Given the description of an element on the screen output the (x, y) to click on. 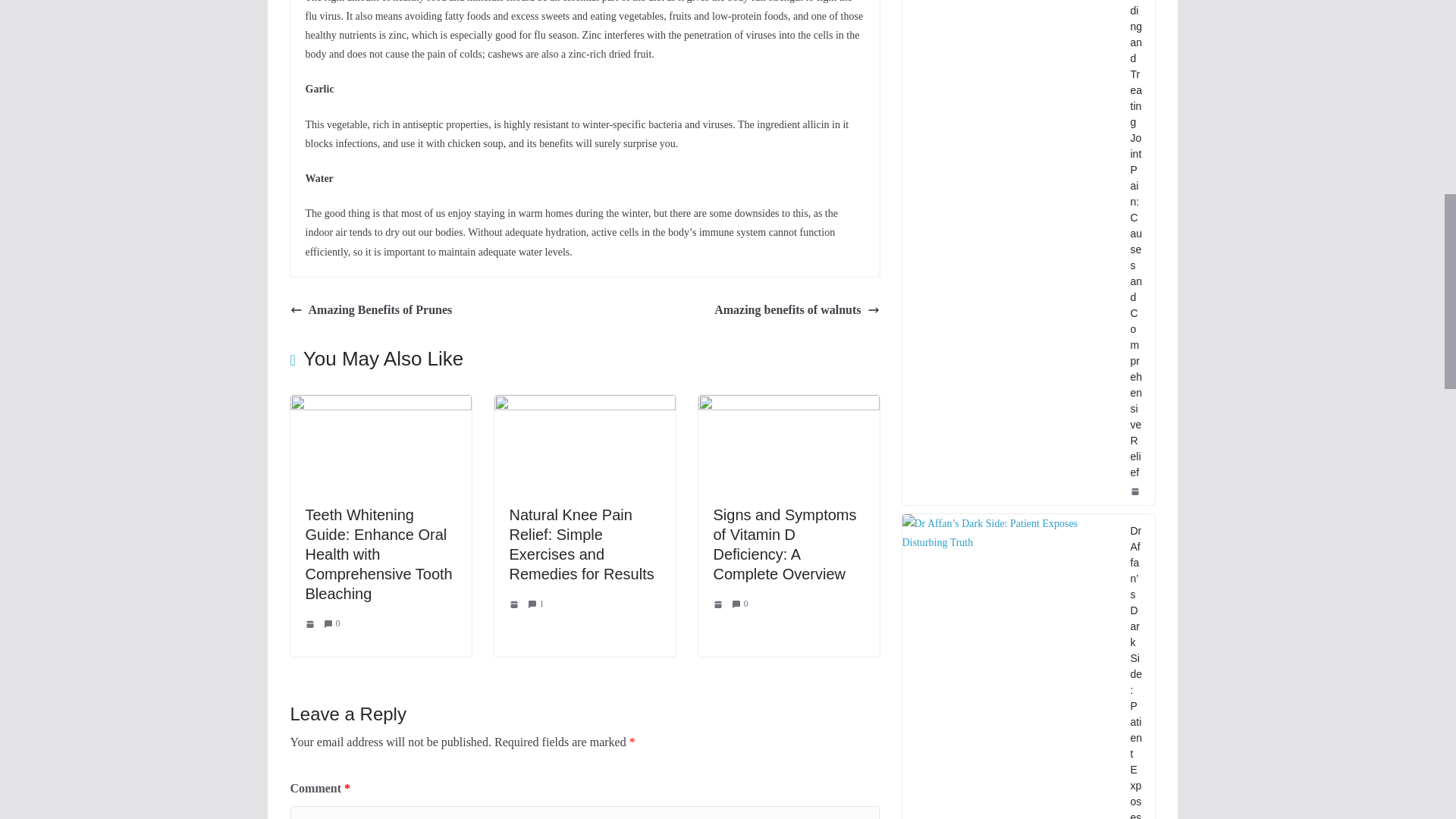
Amazing benefits of walnuts (796, 310)
Amazing Benefits of Prunes (370, 310)
4:19 pm (719, 604)
